Given the description of an element on the screen output the (x, y) to click on. 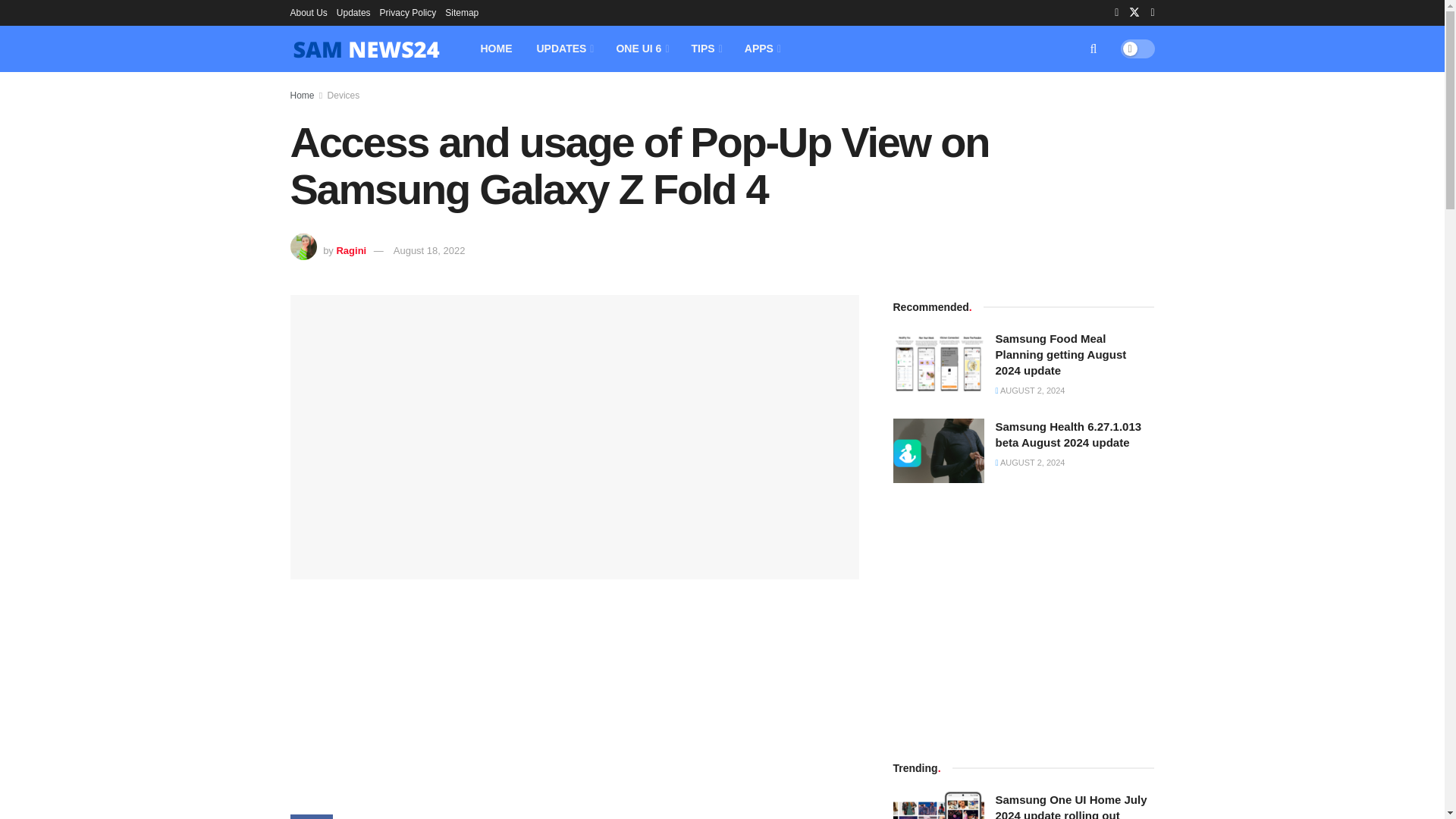
About Us (307, 12)
Updates (353, 12)
Advertisement (1023, 619)
HOME (496, 48)
UPDATES (564, 48)
Privacy Policy (408, 12)
TIPS (705, 48)
Advertisement (574, 707)
Sitemap (462, 12)
ONE UI 6 (641, 48)
